Given the description of an element on the screen output the (x, y) to click on. 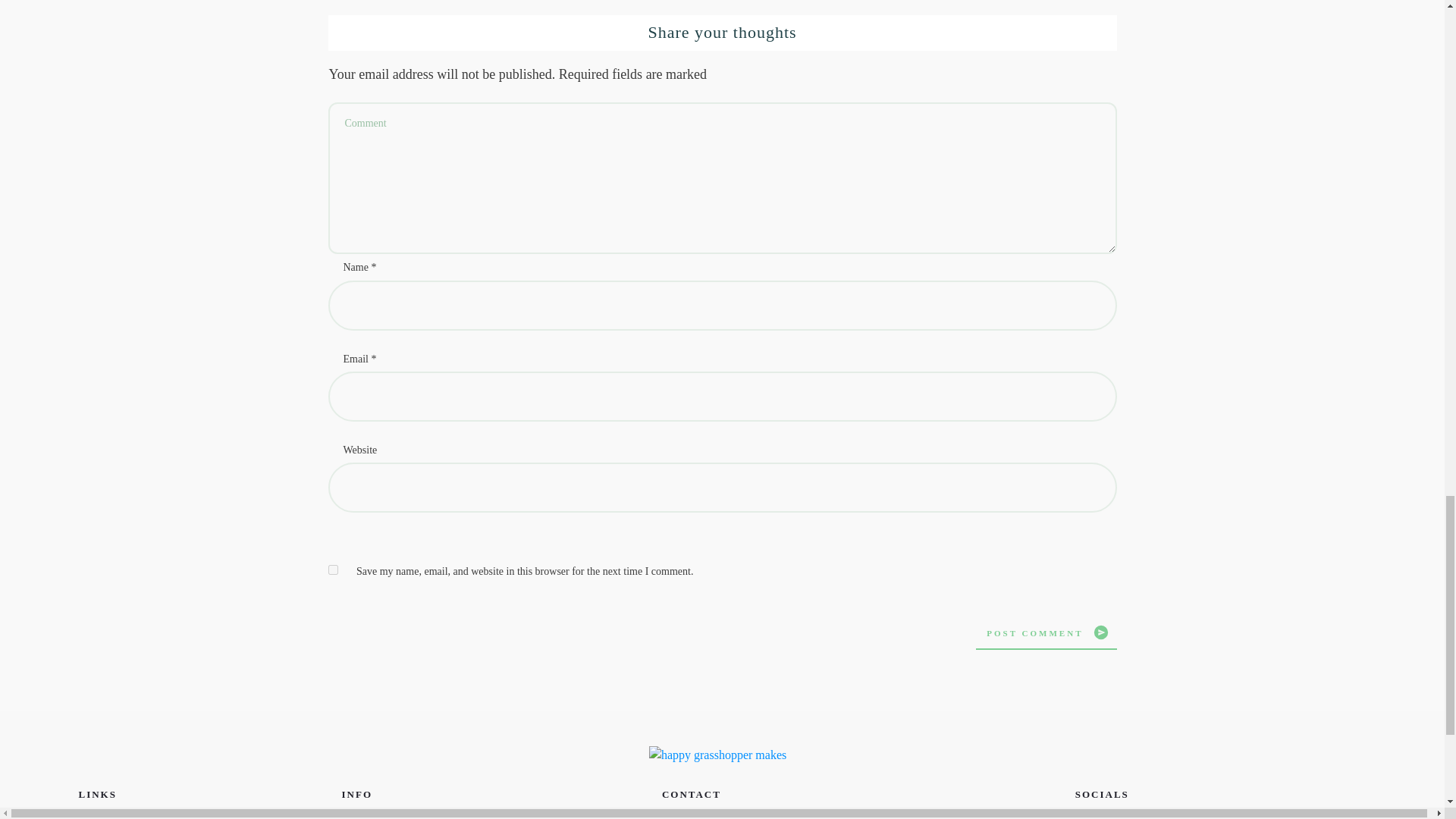
yes (332, 569)
POST COMMENT (1045, 632)
